Given the description of an element on the screen output the (x, y) to click on. 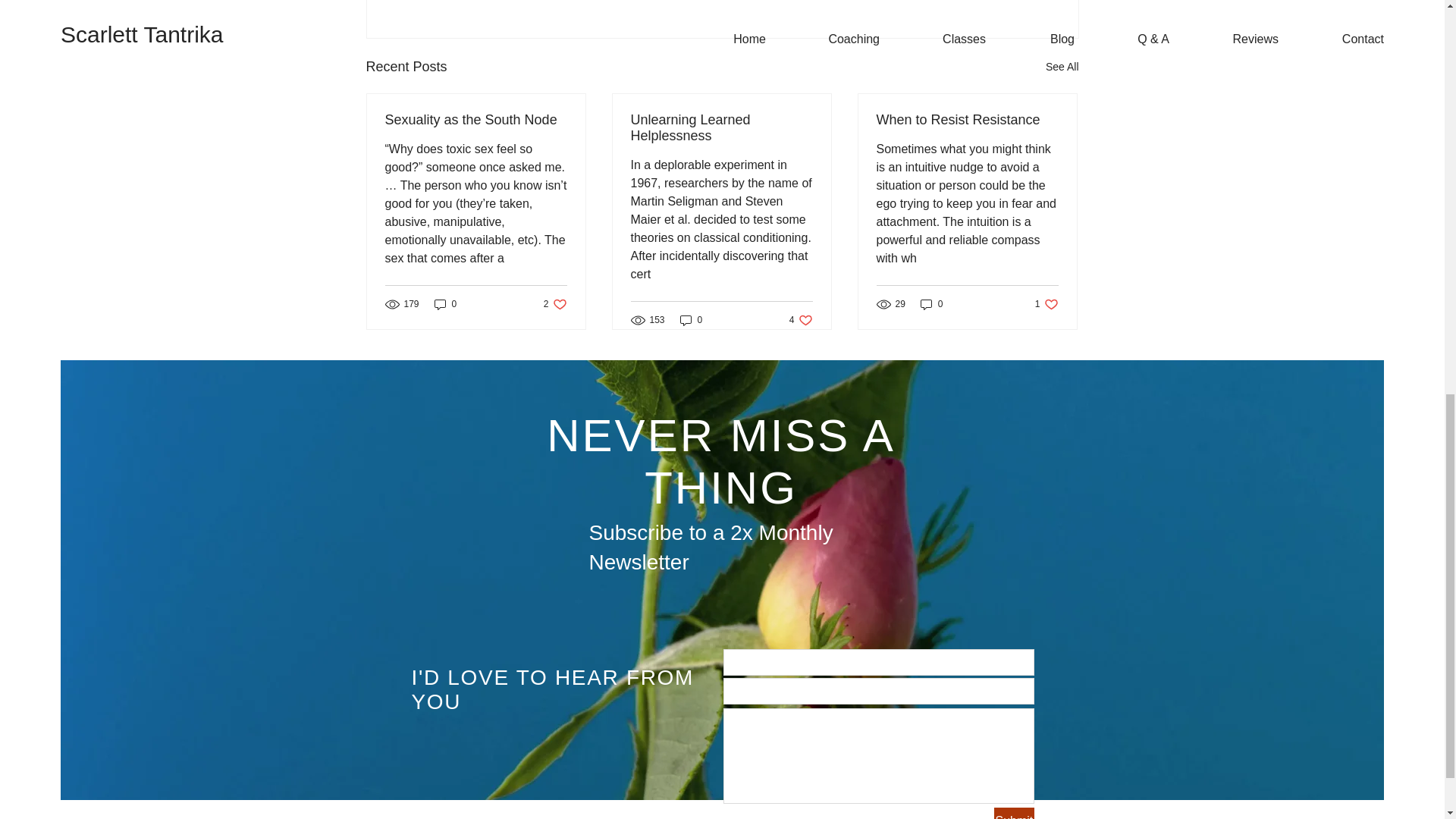
Sexuality as the South Node (476, 119)
0 (931, 304)
See All (1061, 66)
0 (800, 319)
Submit (445, 304)
Unlearning Learned Helplessness (1012, 813)
0 (721, 128)
When to Resist Resistance (1046, 304)
